Given the description of an element on the screen output the (x, y) to click on. 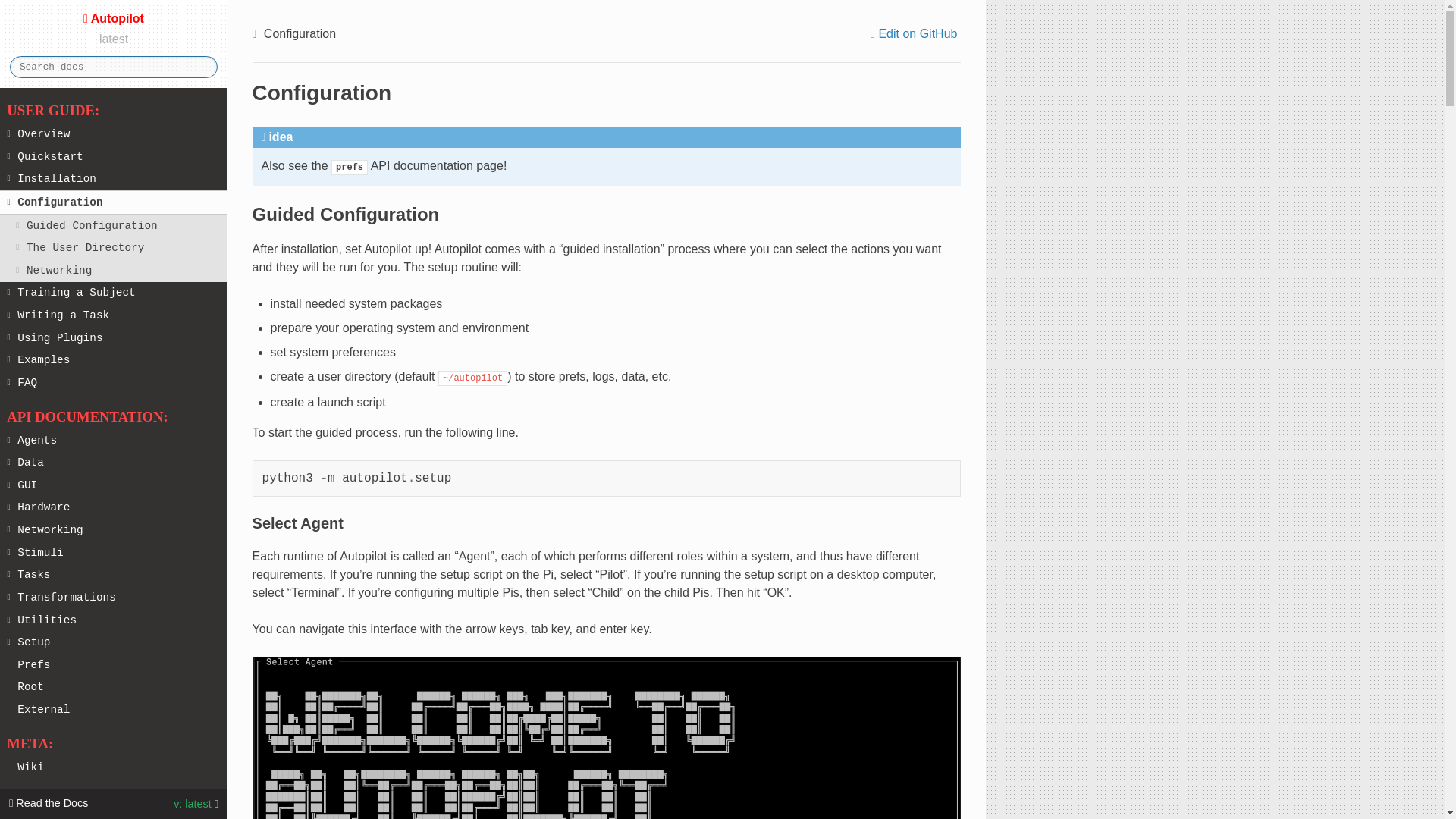
Overview (113, 133)
Autopilot (113, 18)
Installation (113, 179)
Guided Configuration (113, 225)
Quickstart (113, 156)
Configuration (113, 202)
